Given the description of an element on the screen output the (x, y) to click on. 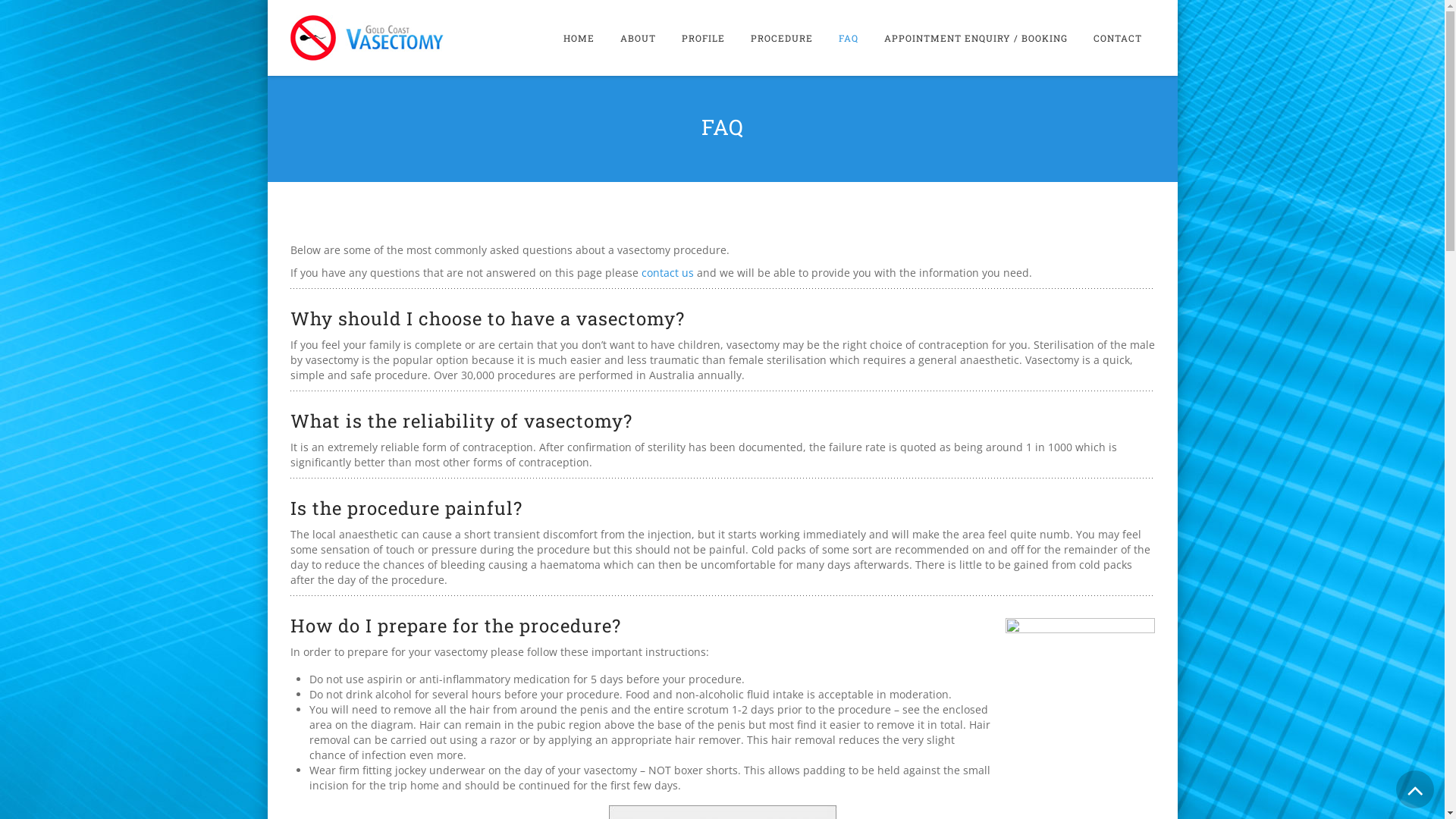
ABOUT Element type: text (637, 37)
contact us Element type: text (667, 272)
APPOINTMENT ENQUIRY / BOOKING Element type: text (974, 37)
CONTACT Element type: text (1116, 37)
PROCEDURE Element type: text (781, 37)
PROFILE Element type: text (702, 37)
FAQ Element type: text (847, 37)
Gold Coast Vasectomy Element type: hover (365, 37)
HOME Element type: text (578, 37)
